Given the description of an element on the screen output the (x, y) to click on. 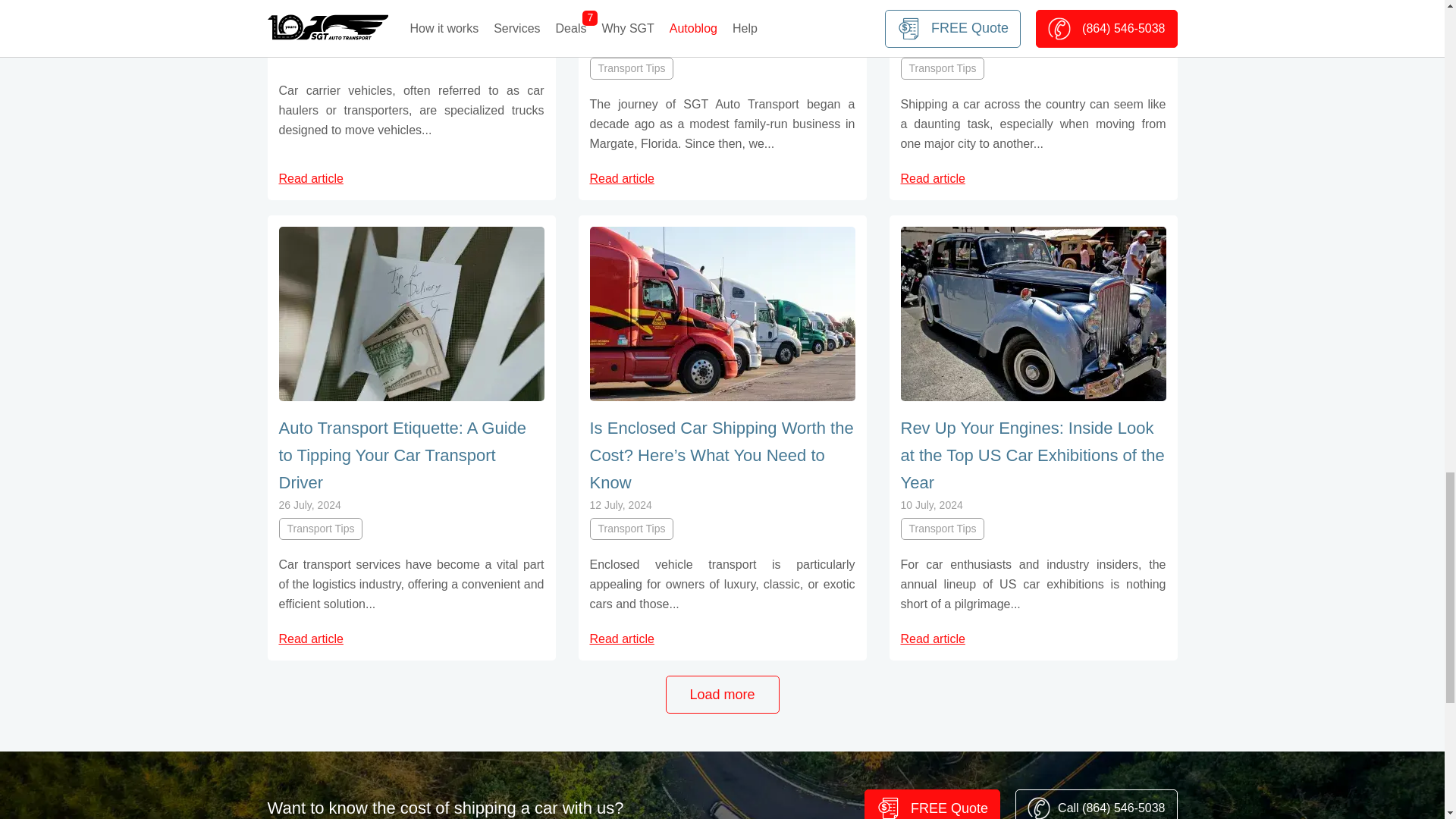
Wednesday, July 10, 2024 - 08:16 (931, 504)
Friday, July 26, 2024 - 01:29 (309, 504)
Monday, August 12, 2024 - 11:43 (627, 44)
Thursday, August 8, 2024 - 10:20 (936, 44)
Tuesday, August 13, 2024 - 07:47 (317, 17)
Load more items (721, 694)
Friday, July 12, 2024 - 04:23 (620, 504)
